Given the description of an element on the screen output the (x, y) to click on. 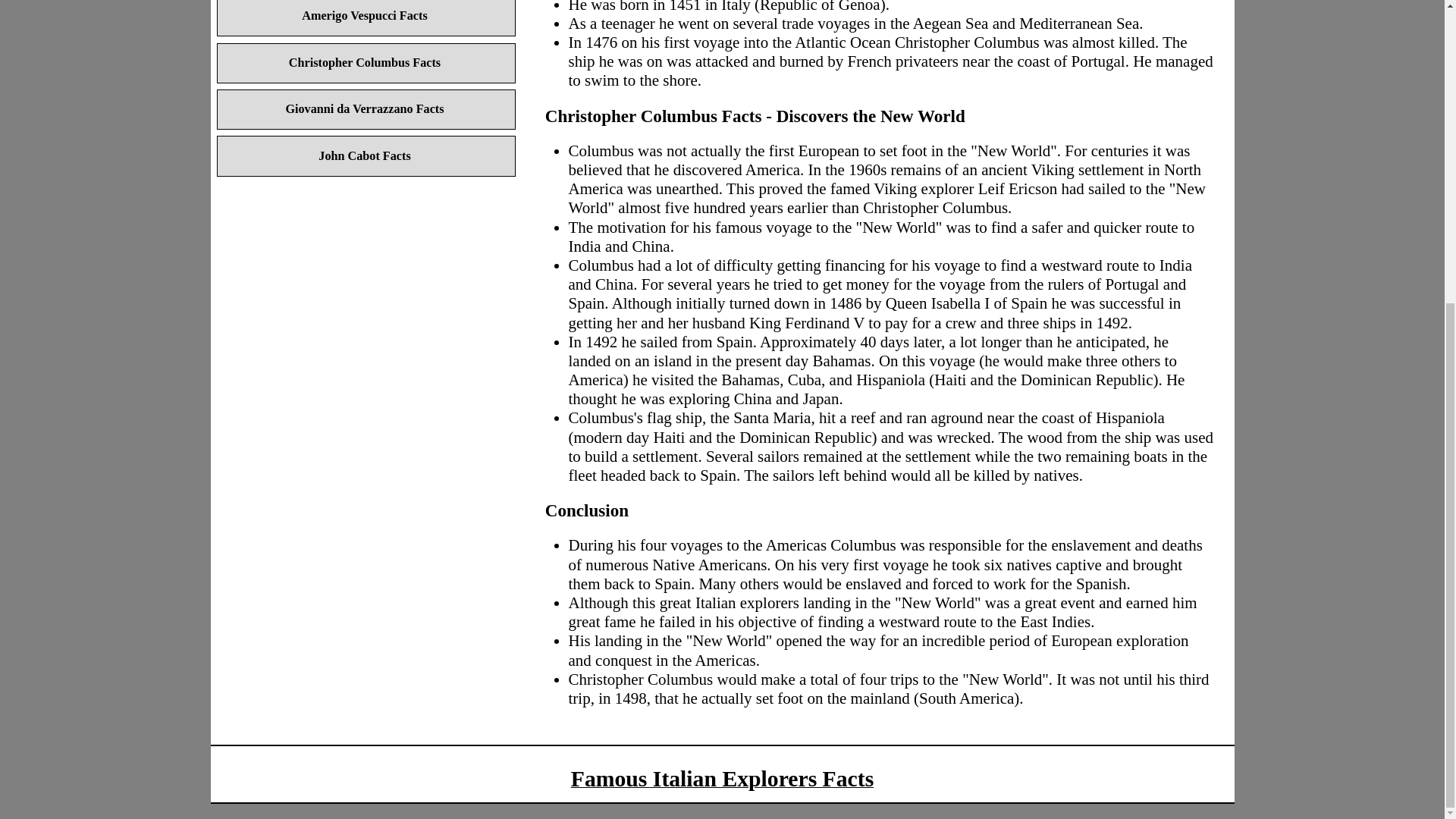
Christopher Columbus Facts (366, 63)
Giovanni da Verrazzano Facts (366, 109)
Famous Italian Explorers Facts (721, 778)
Amerigo Vespucci Facts (366, 18)
John Cabot Facts (366, 155)
